Given the description of an element on the screen output the (x, y) to click on. 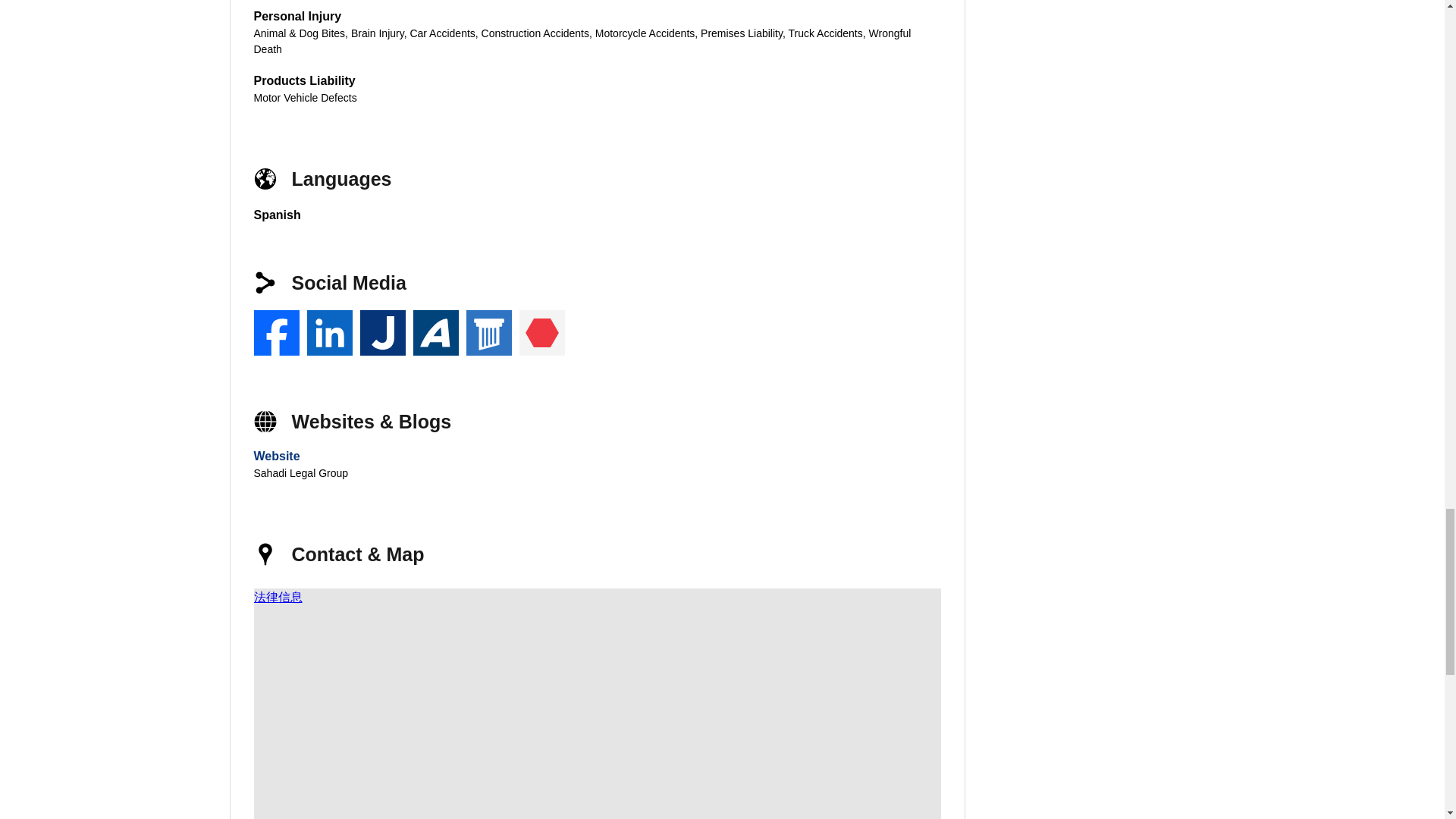
Richard Reagan Sahadi's Martindale Profile (541, 332)
Website (276, 455)
 Justia Profile (381, 332)
LinkedIn (328, 332)
Richard Reagan Sahadi's Lawyers.com Profile (488, 332)
Richard Reagan Sahadi's Avvo Profile (435, 332)
Richard Reagan Sahadi's Avvo Profile (435, 332)
Facebook (275, 332)
Richard Reagan Sahadi's Martindale Profile (541, 332)
Richard Reagan Sahadi on LinkedIn (328, 332)
